Given the description of an element on the screen output the (x, y) to click on. 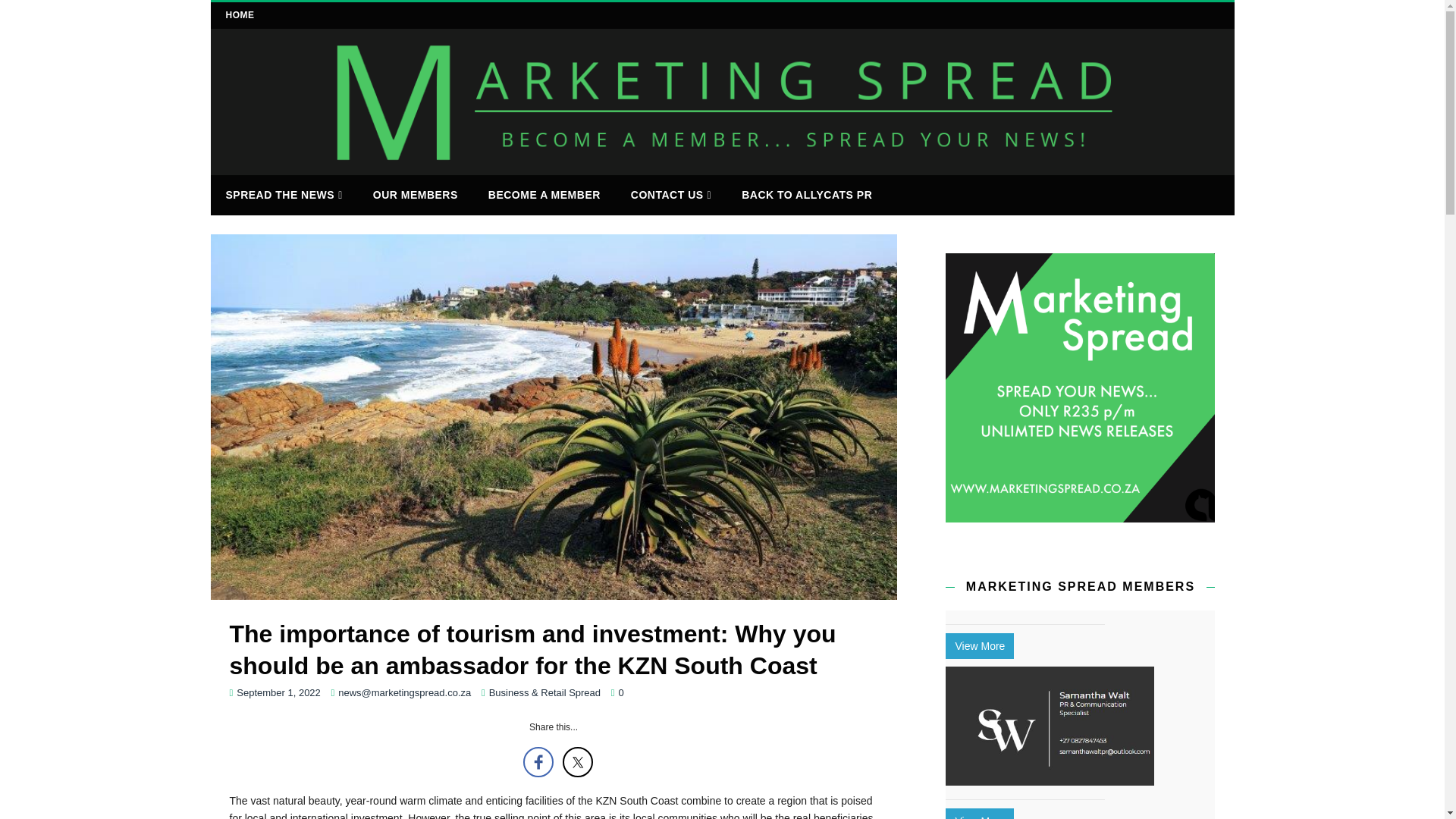
View More (978, 813)
BECOME A MEMBER (544, 194)
September 1, 2022 (277, 692)
Marketing Spread (722, 165)
View More (978, 646)
OUR MEMBERS (415, 194)
BACK TO ALLYCATS PR (806, 194)
CONTACT US (670, 195)
HOME (240, 15)
SPREAD THE NEWS (284, 195)
